Given the description of an element on the screen output the (x, y) to click on. 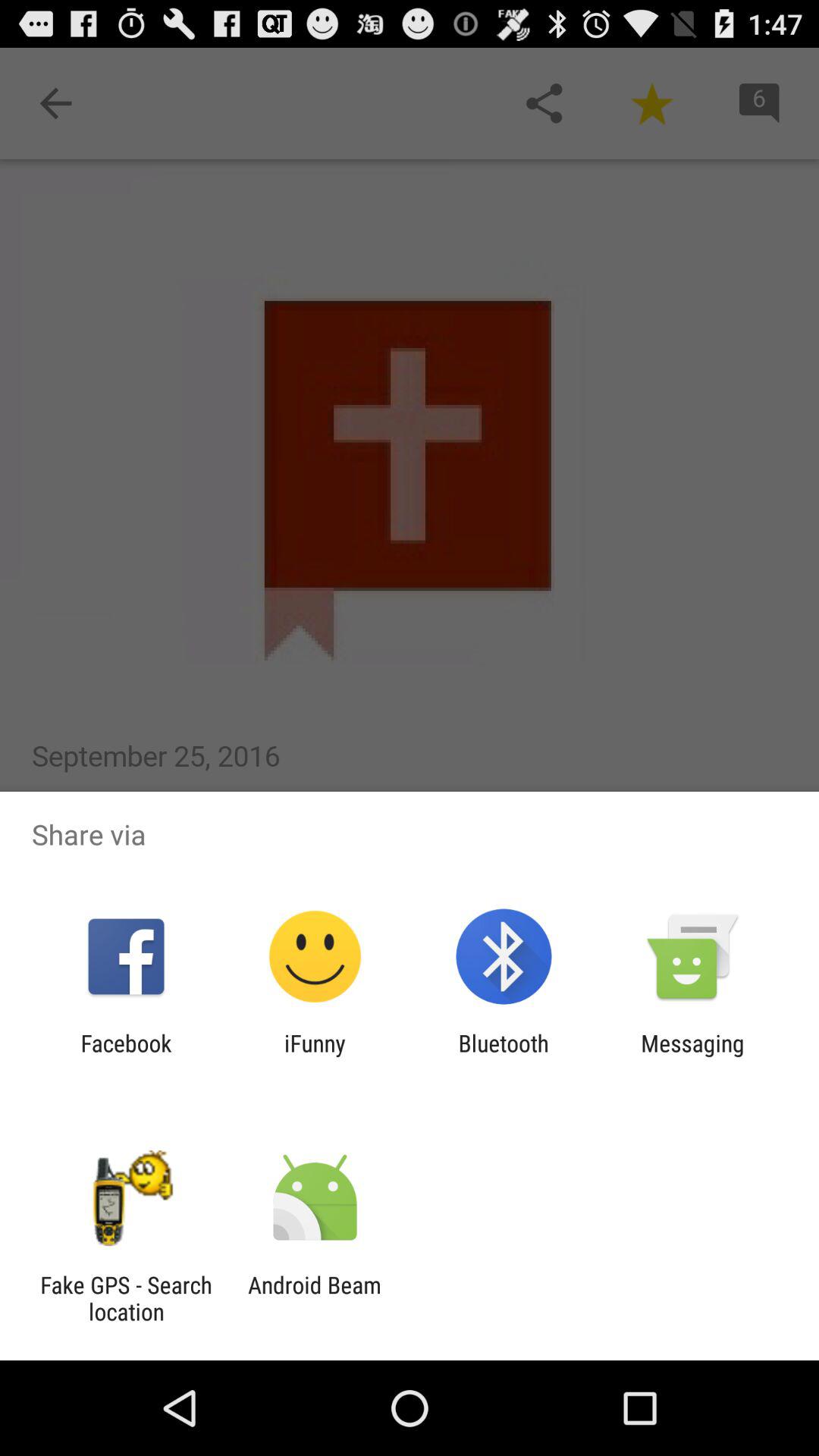
select the app to the right of the ifunny (503, 1056)
